Given the description of an element on the screen output the (x, y) to click on. 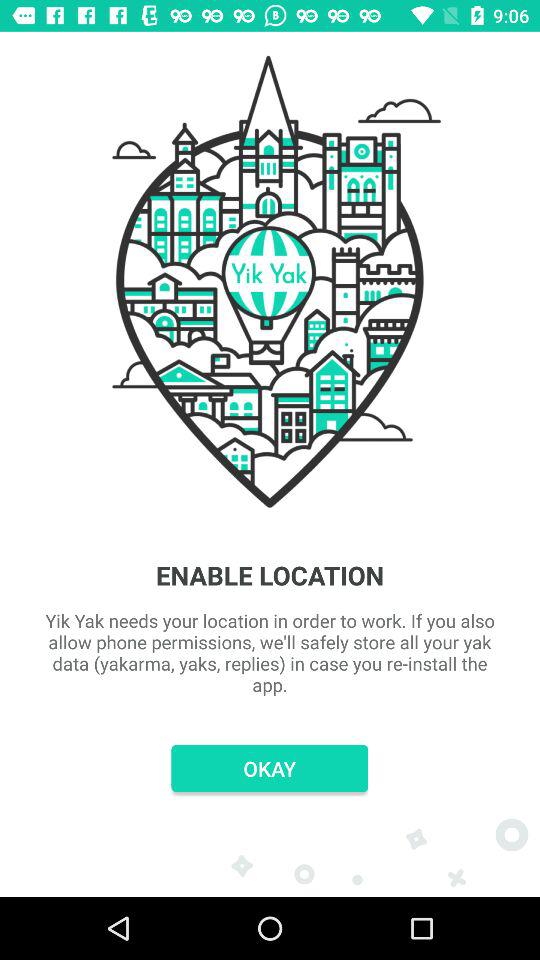
open the item below yik yak needs (269, 767)
